Given the description of an element on the screen output the (x, y) to click on. 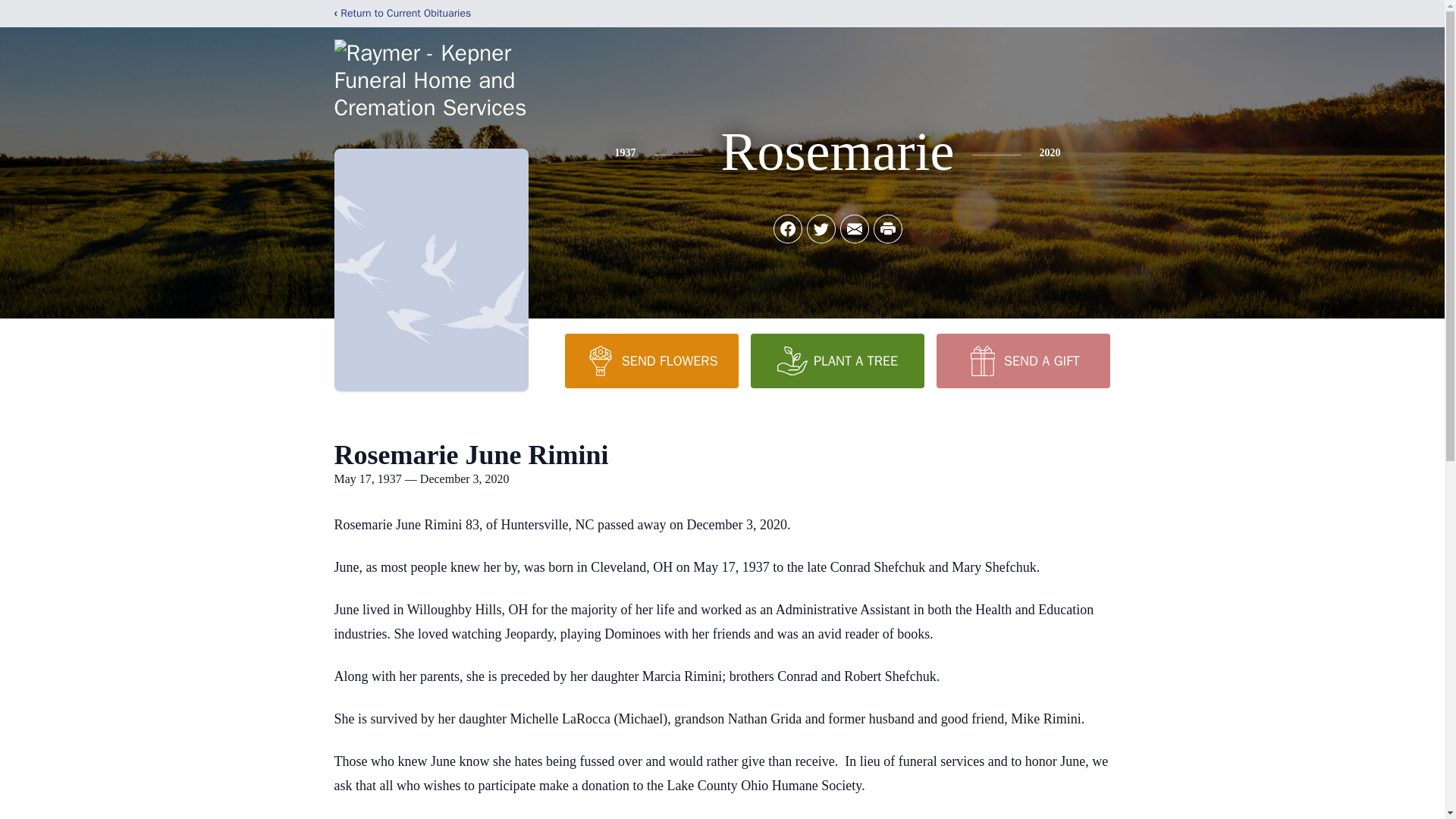
SEND FLOWERS (651, 360)
SEND A GIFT (1022, 360)
PLANT A TREE (837, 360)
